Given the description of an element on the screen output the (x, y) to click on. 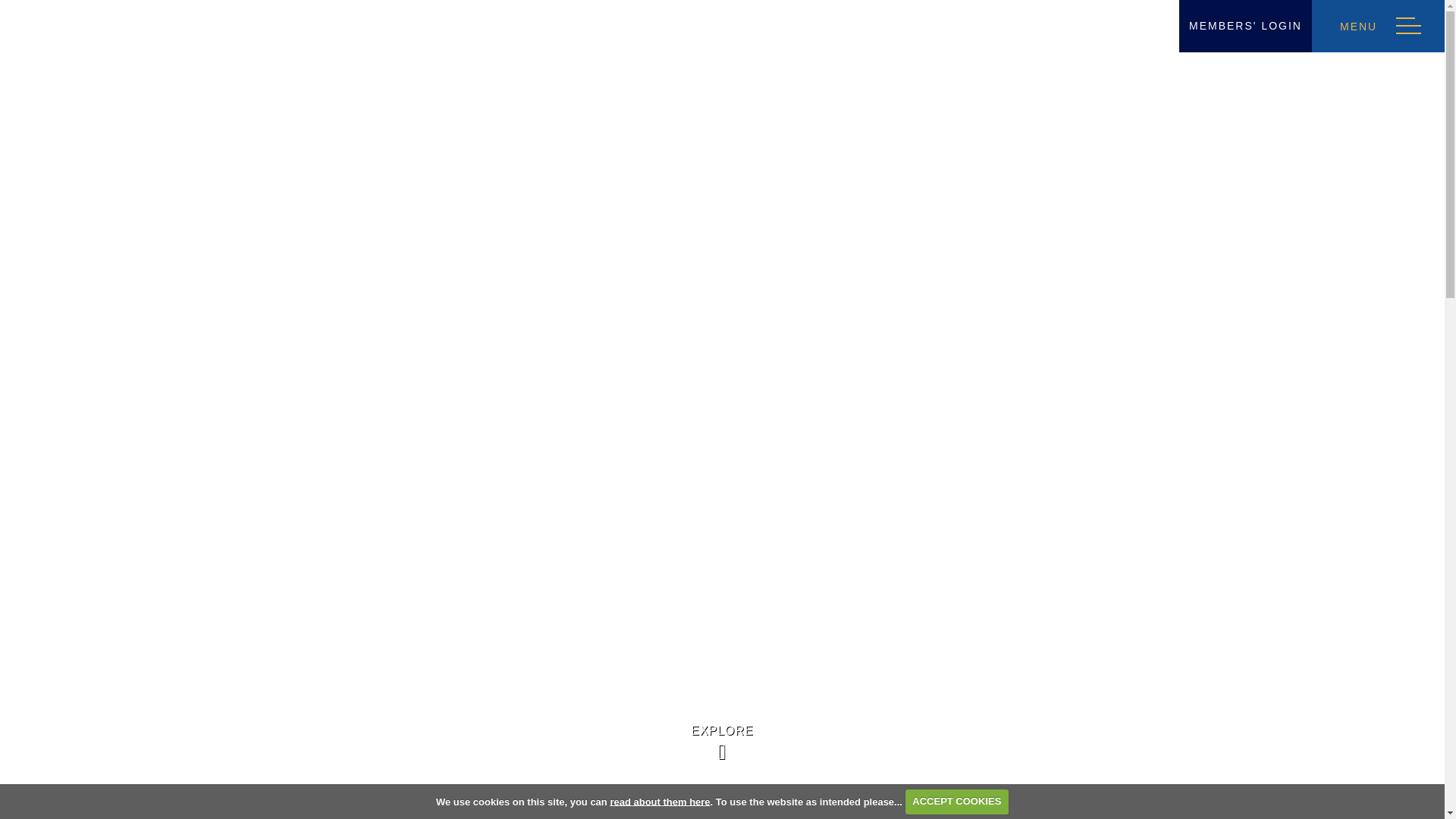
EXPLORE (722, 742)
EXPLORE (722, 742)
MEMBERS' LOGIN (1245, 26)
read about them here (660, 800)
read about our cookies (660, 800)
ACCEPT COOKIES (957, 801)
